Given the description of an element on the screen output the (x, y) to click on. 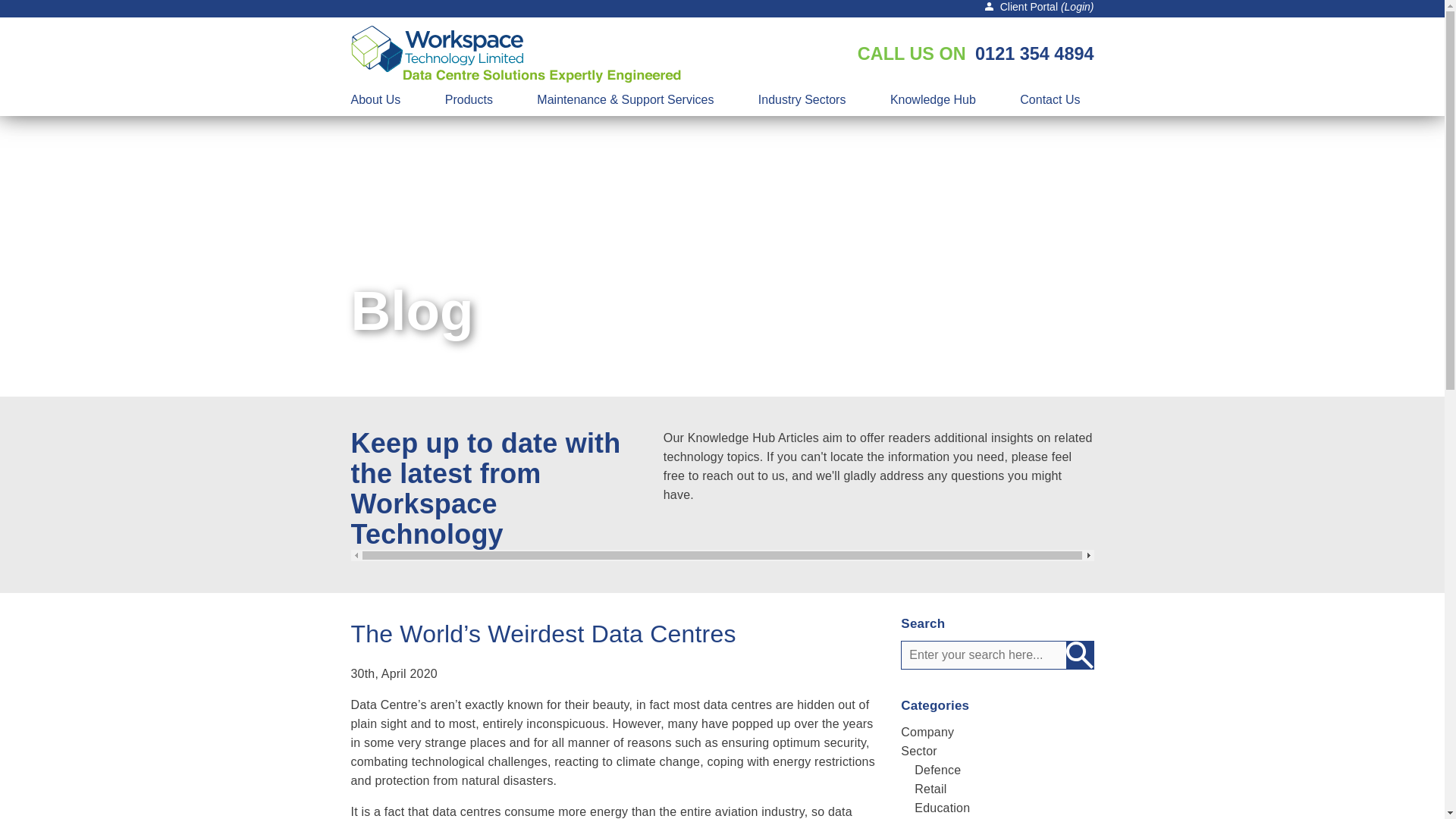
About Us (385, 100)
0121 354 4894 (1034, 53)
Products (469, 100)
